Given the description of an element on the screen output the (x, y) to click on. 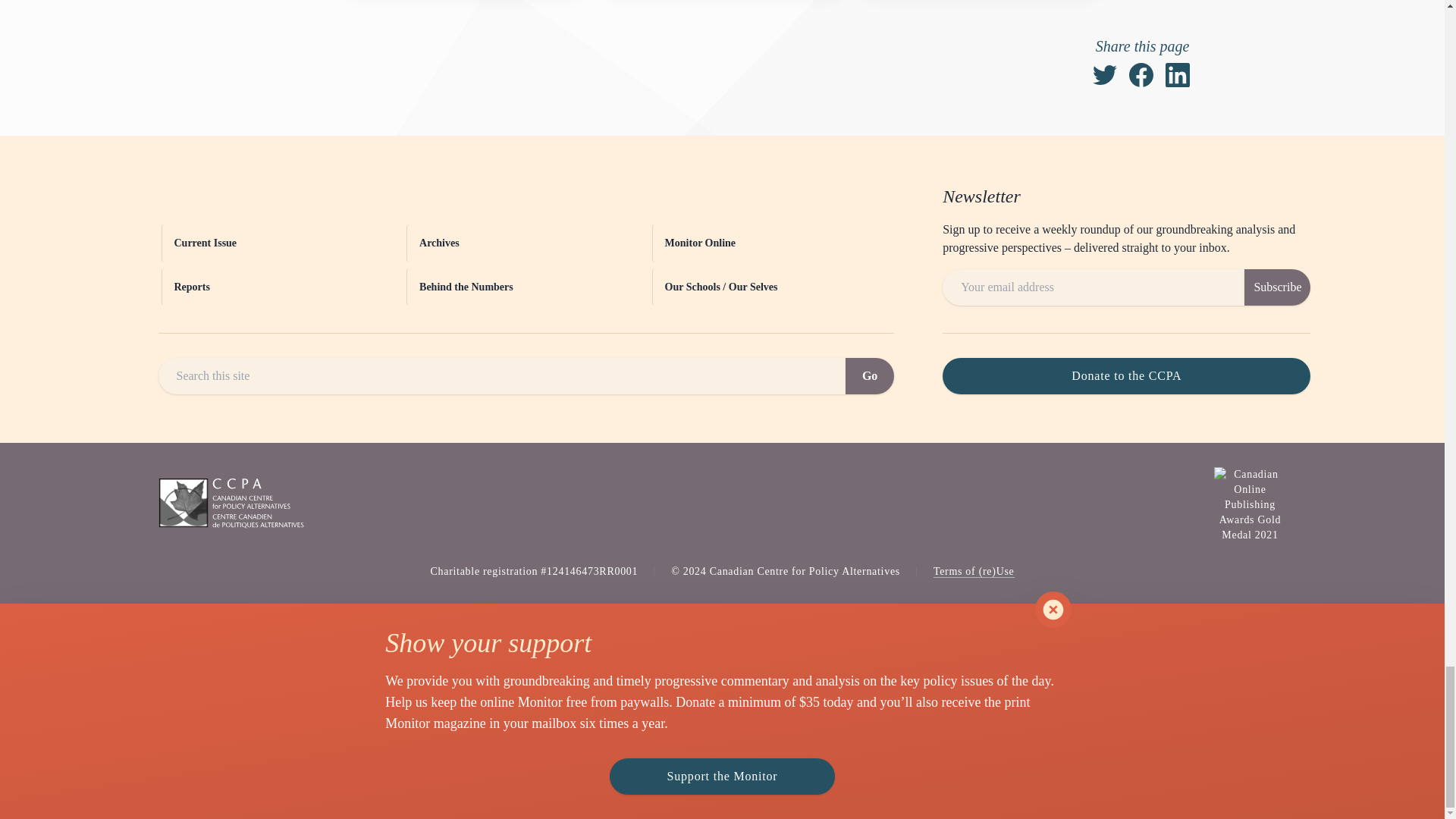
Tweet (1104, 74)
Share on Facebook (1140, 74)
Share on LinkedIn (1176, 74)
Subscribe (1277, 287)
